Given the description of an element on the screen output the (x, y) to click on. 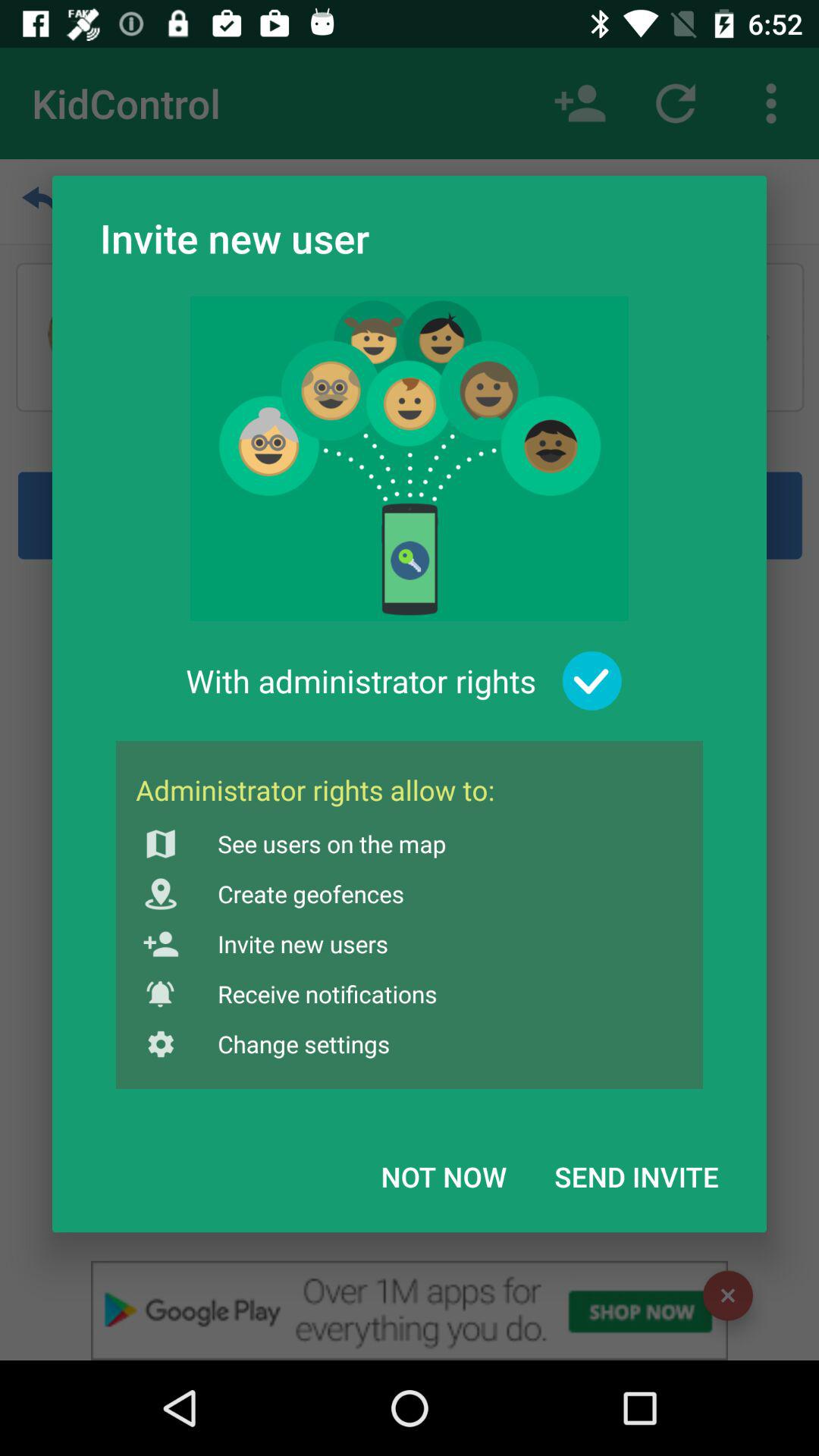
choose item on the right (592, 680)
